Given the description of an element on the screen output the (x, y) to click on. 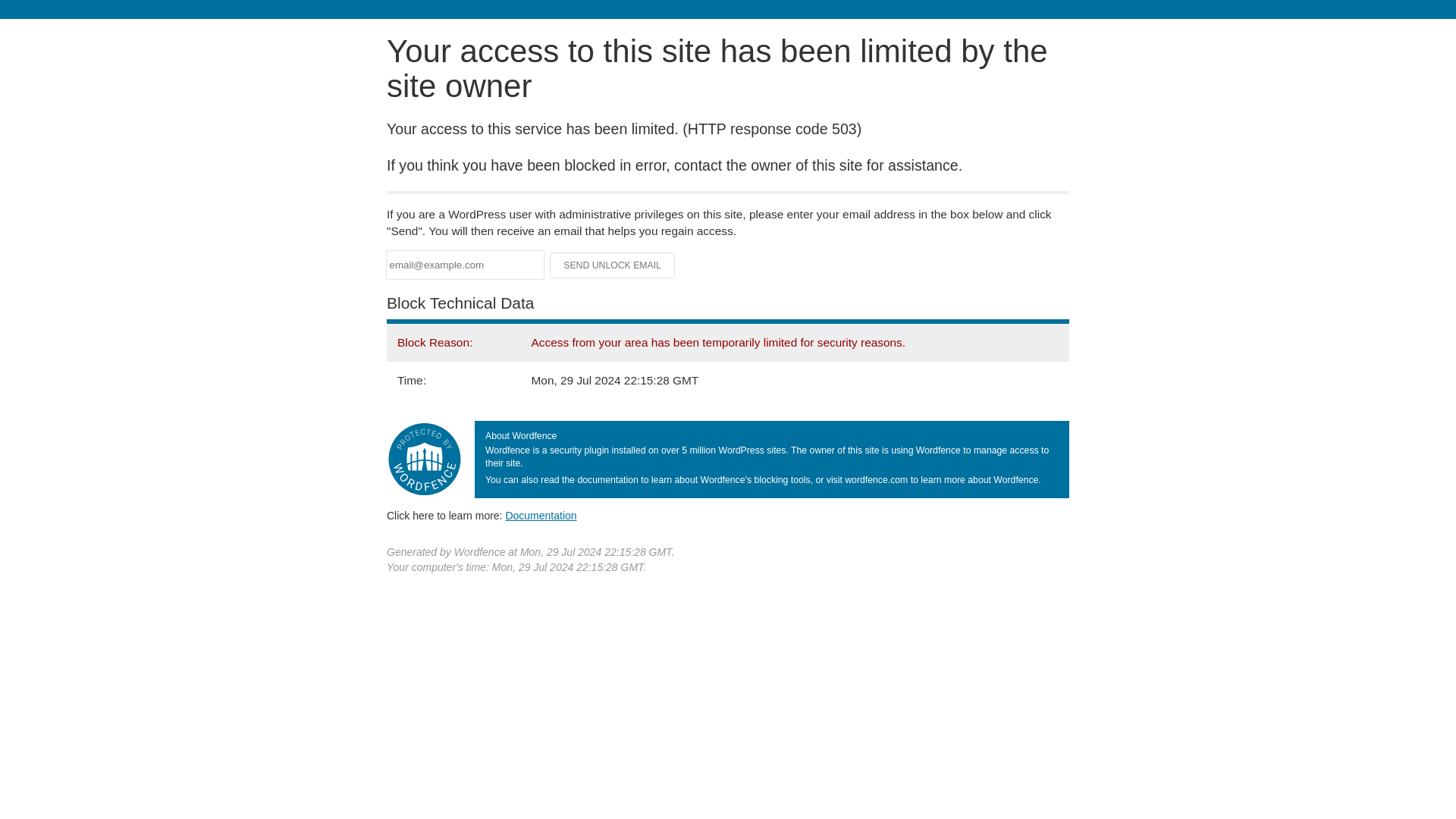
Documentation (540, 515)
Send Unlock Email (612, 265)
Send Unlock Email (612, 265)
